Given the description of an element on the screen output the (x, y) to click on. 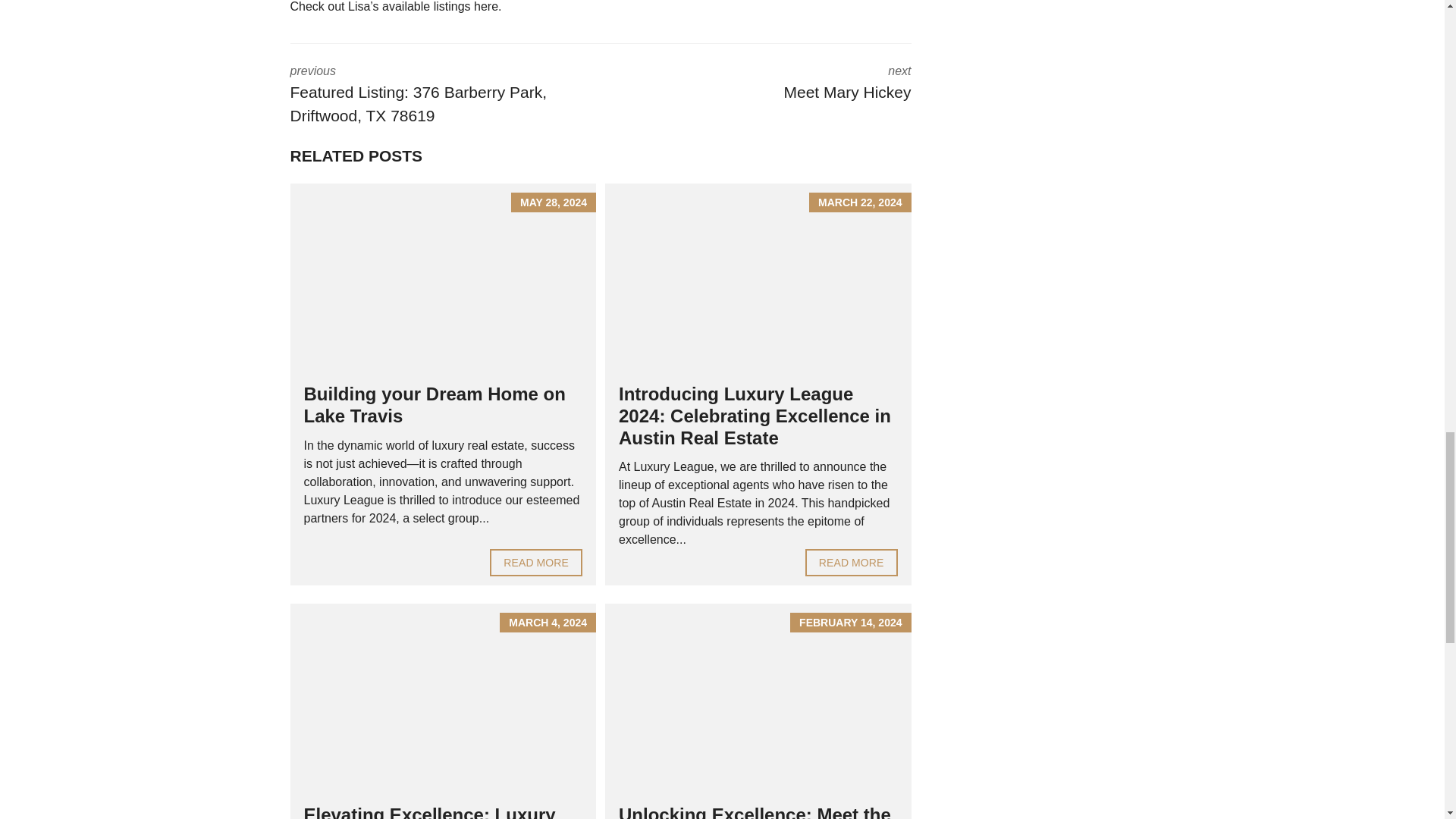
Building your Dream Home on Lake Travis (433, 404)
READ MORE (851, 562)
MARCH 4, 2024 (442, 698)
READ MORE (535, 562)
Building your Dream Home on Lake Travis (767, 84)
MARCH 22, 2024 (535, 562)
MAY 28, 2024 (758, 278)
Building your Dream Home on Lake Travis (442, 278)
